Given the description of an element on the screen output the (x, y) to click on. 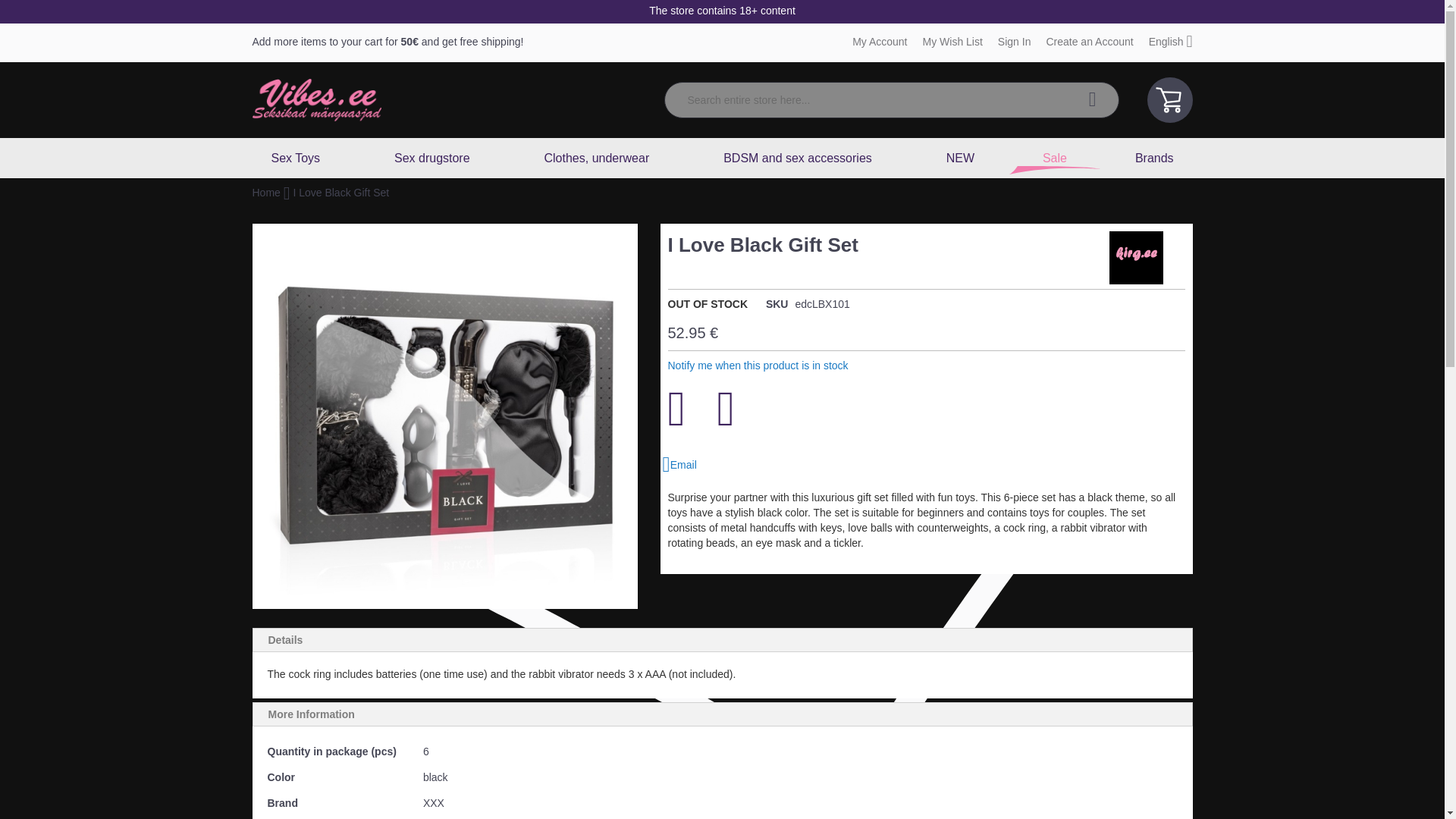
My Account (879, 41)
Availability (707, 304)
Sign In (1013, 41)
XXX (1135, 257)
Create an Account (1088, 41)
Go to Home Page (266, 192)
My Wish List (952, 41)
Brands (1154, 158)
Sex Toys (297, 158)
XXX (1135, 280)
